Given the description of an element on the screen output the (x, y) to click on. 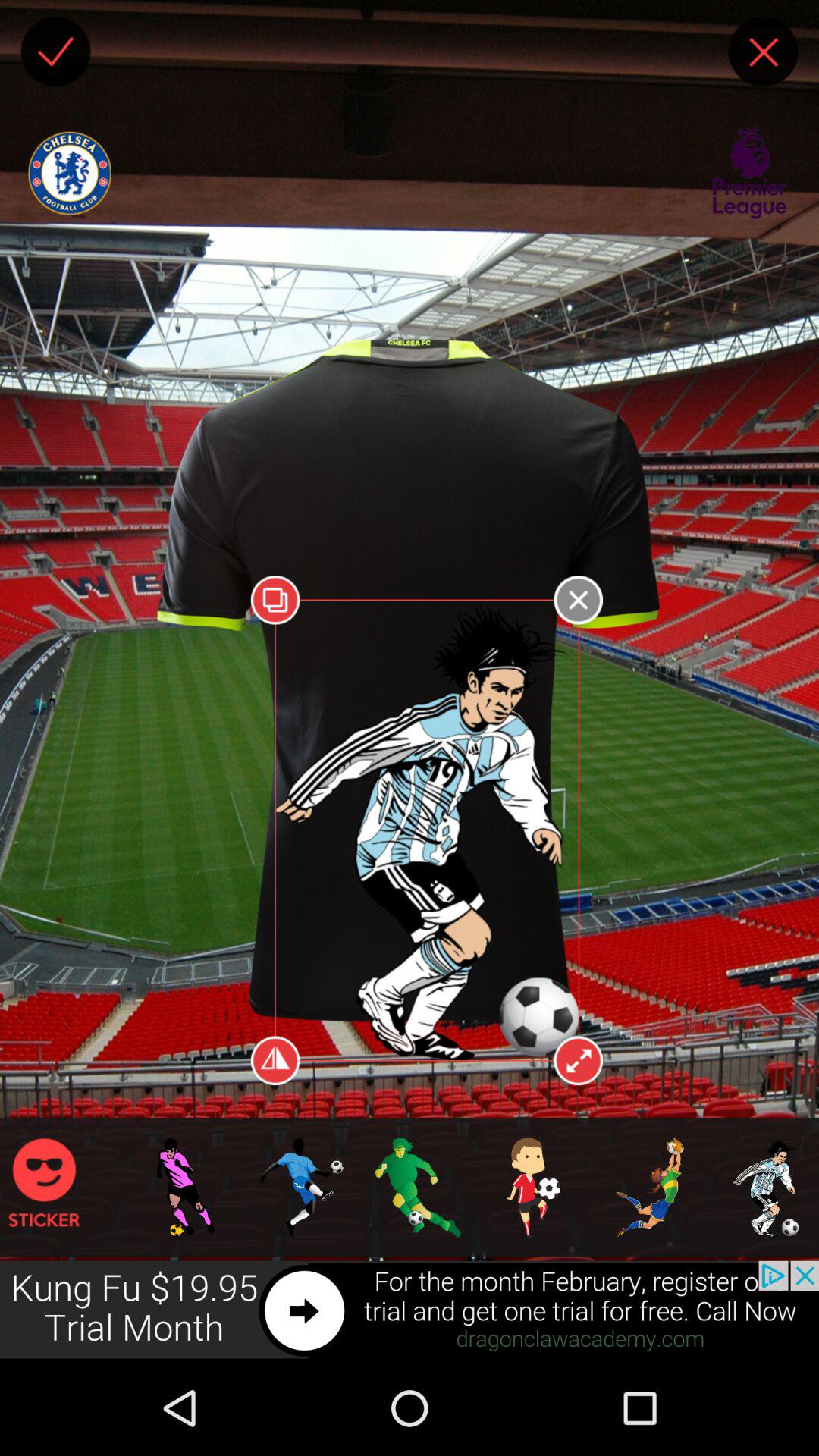
select the player (55, 51)
